Given the description of an element on the screen output the (x, y) to click on. 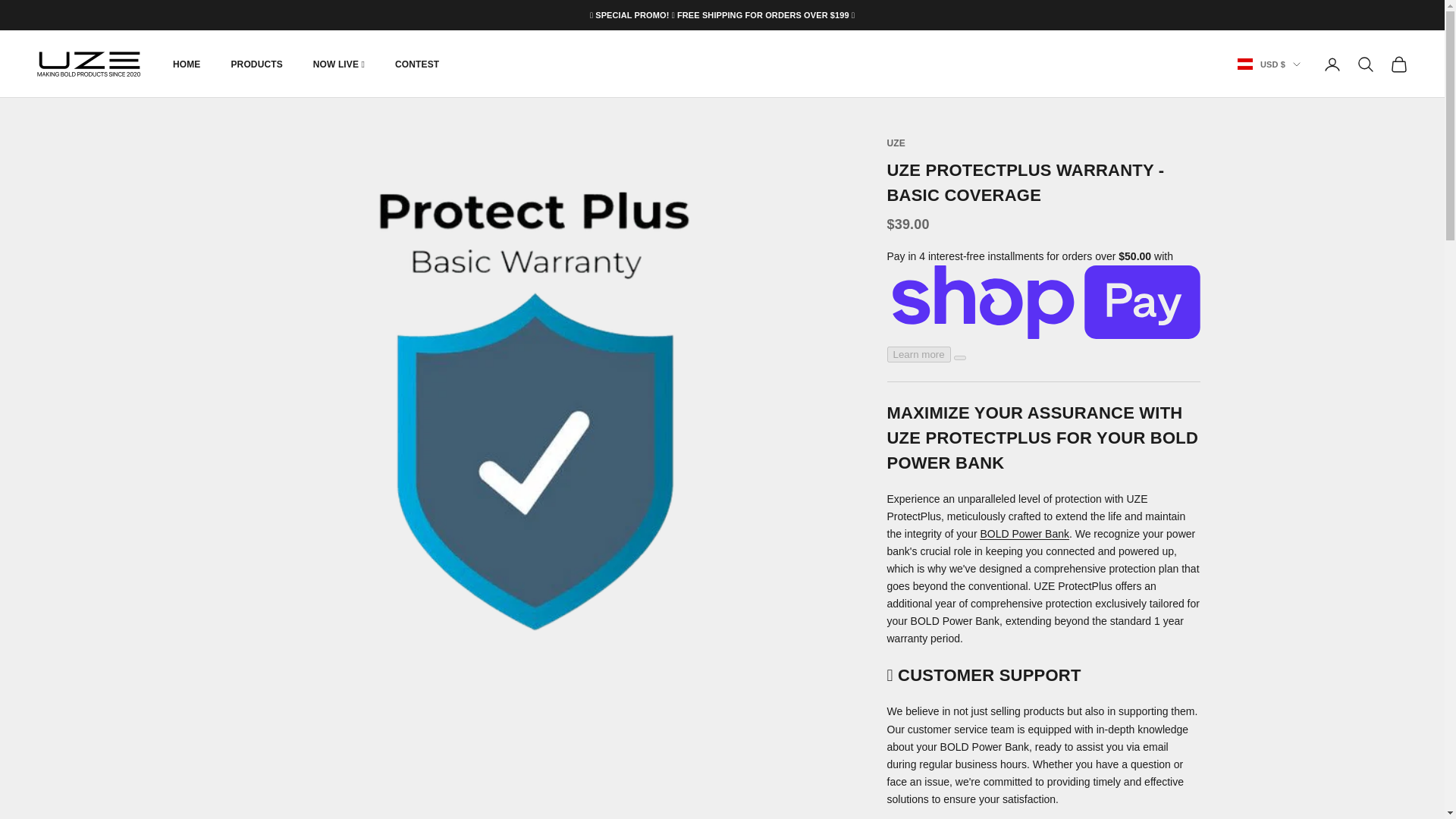
HOME (186, 64)
CONTEST (416, 64)
PRODUCTS (256, 64)
UZE (89, 63)
